Given the description of an element on the screen output the (x, y) to click on. 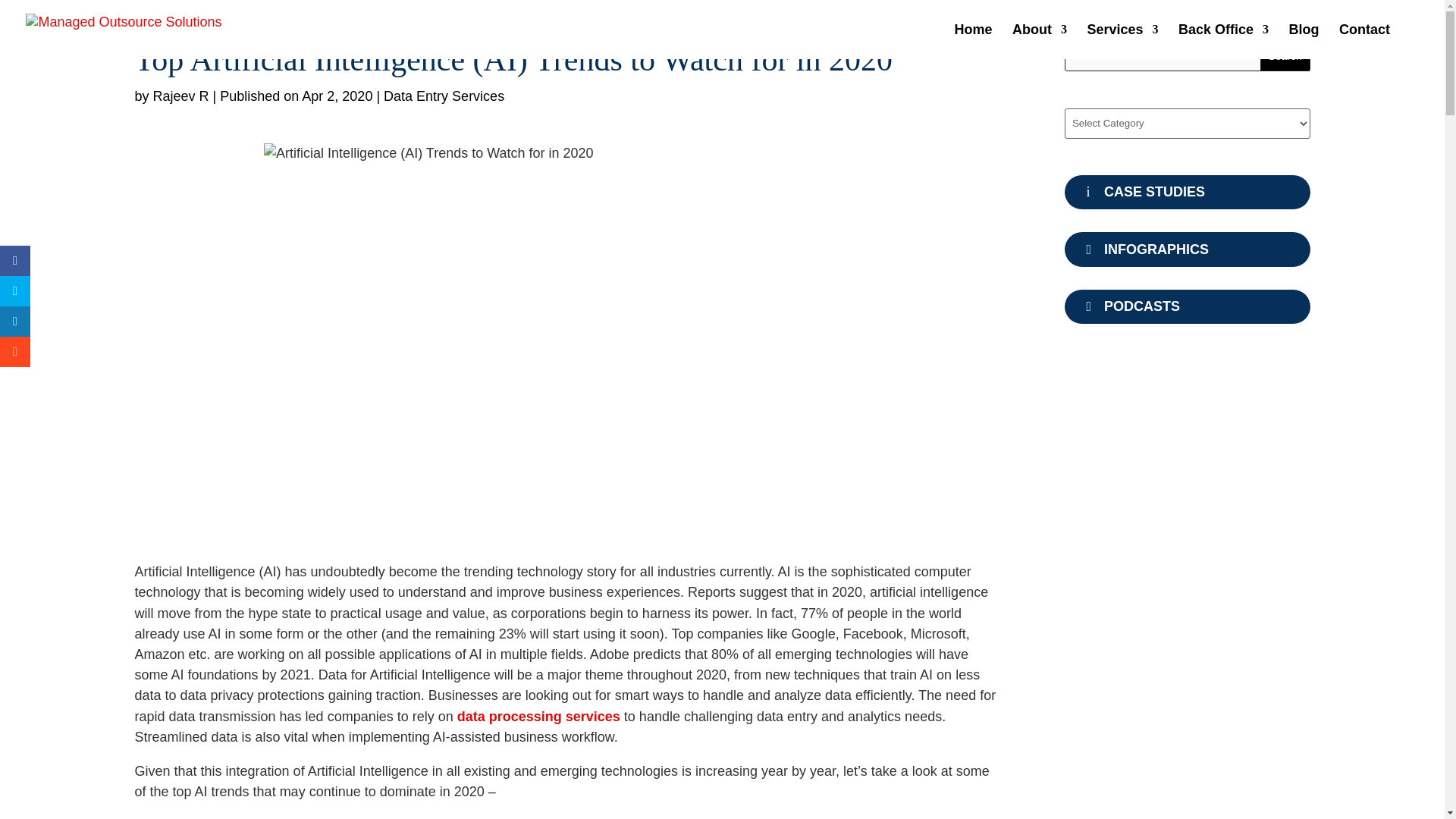
data processing services (538, 715)
Search (1285, 55)
Home (973, 41)
INFOGRAPHICS (1187, 248)
Data Processing Services (538, 715)
CASE STUDIES (1187, 192)
About (1039, 41)
Services (1122, 41)
Rajeev R (180, 96)
Back Office (1222, 41)
Posts by Rajeev R (180, 96)
Data Entry Services (443, 96)
PODCASTS (1187, 306)
Contact (1364, 41)
